Given the description of an element on the screen output the (x, y) to click on. 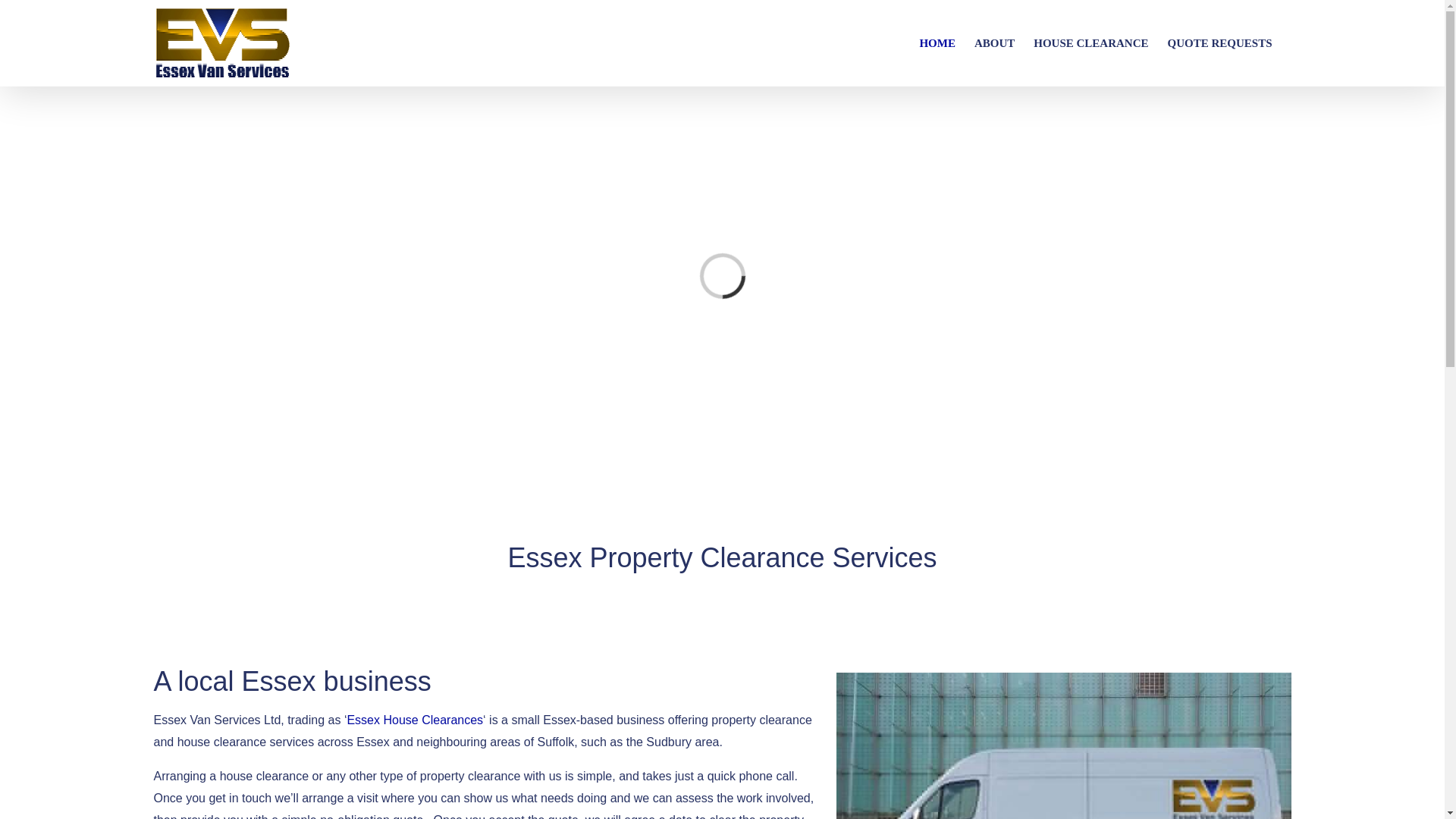
ABOUT (994, 43)
HOUSE CLEARANCE (1090, 43)
Essex House Clearances (414, 719)
HOME (936, 43)
QUOTE REQUESTS (1219, 43)
